Given the description of an element on the screen output the (x, y) to click on. 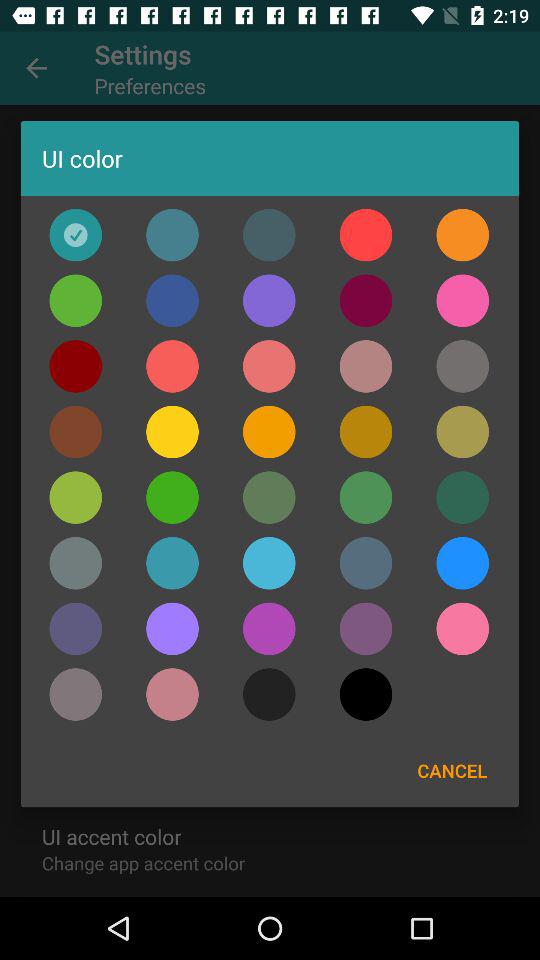
colour for ui (172, 694)
